Given the description of an element on the screen output the (x, y) to click on. 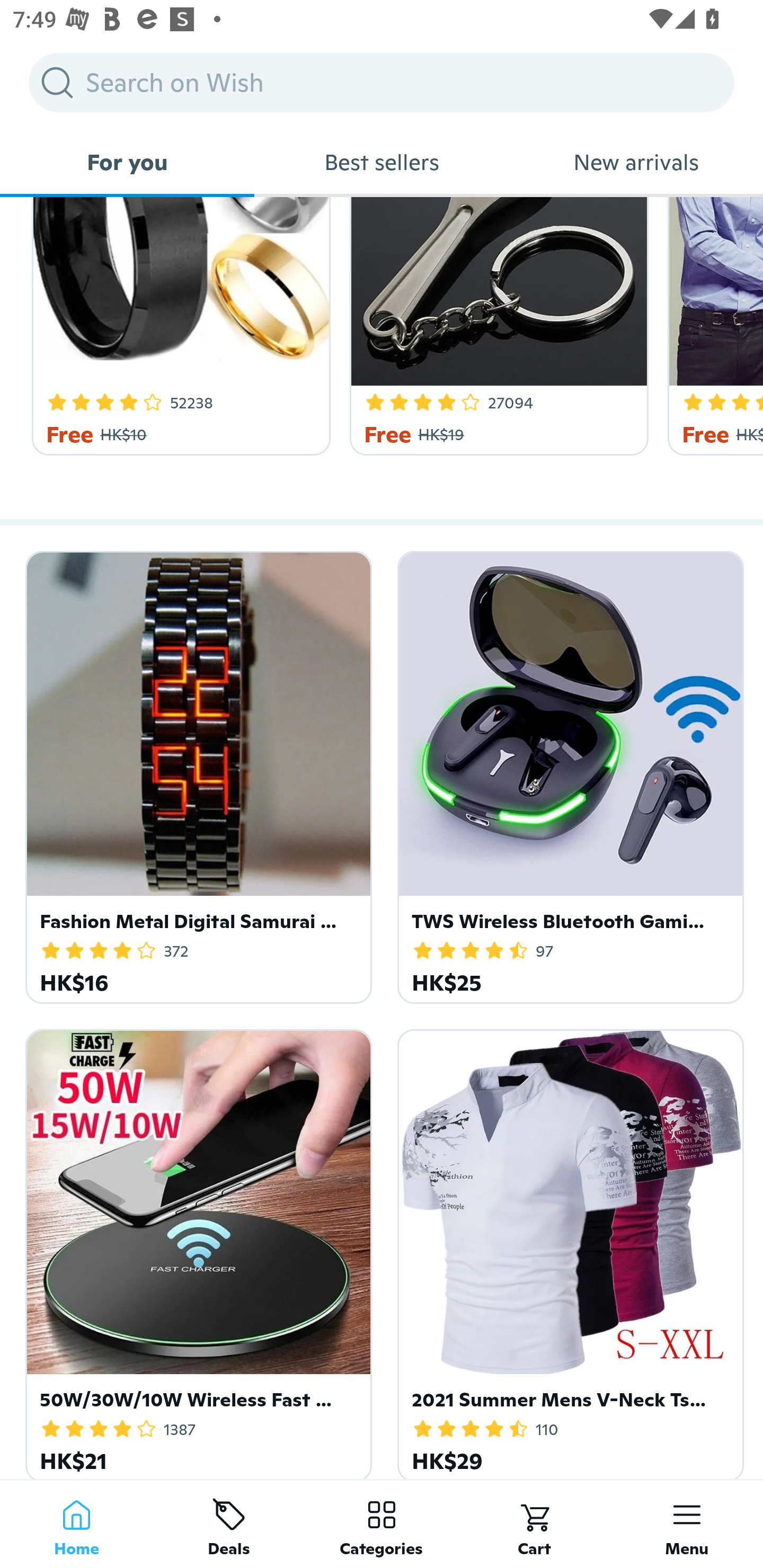
Search on Wish (381, 82)
For you (127, 161)
Best sellers (381, 161)
New arrivals (635, 161)
4.2 Star Rating 52238 Free HK$10 (177, 326)
4 Star Rating 27094 Free HK$19 (495, 326)
Home (76, 1523)
Deals (228, 1523)
Categories (381, 1523)
Cart (533, 1523)
Menu (686, 1523)
